Given the description of an element on the screen output the (x, y) to click on. 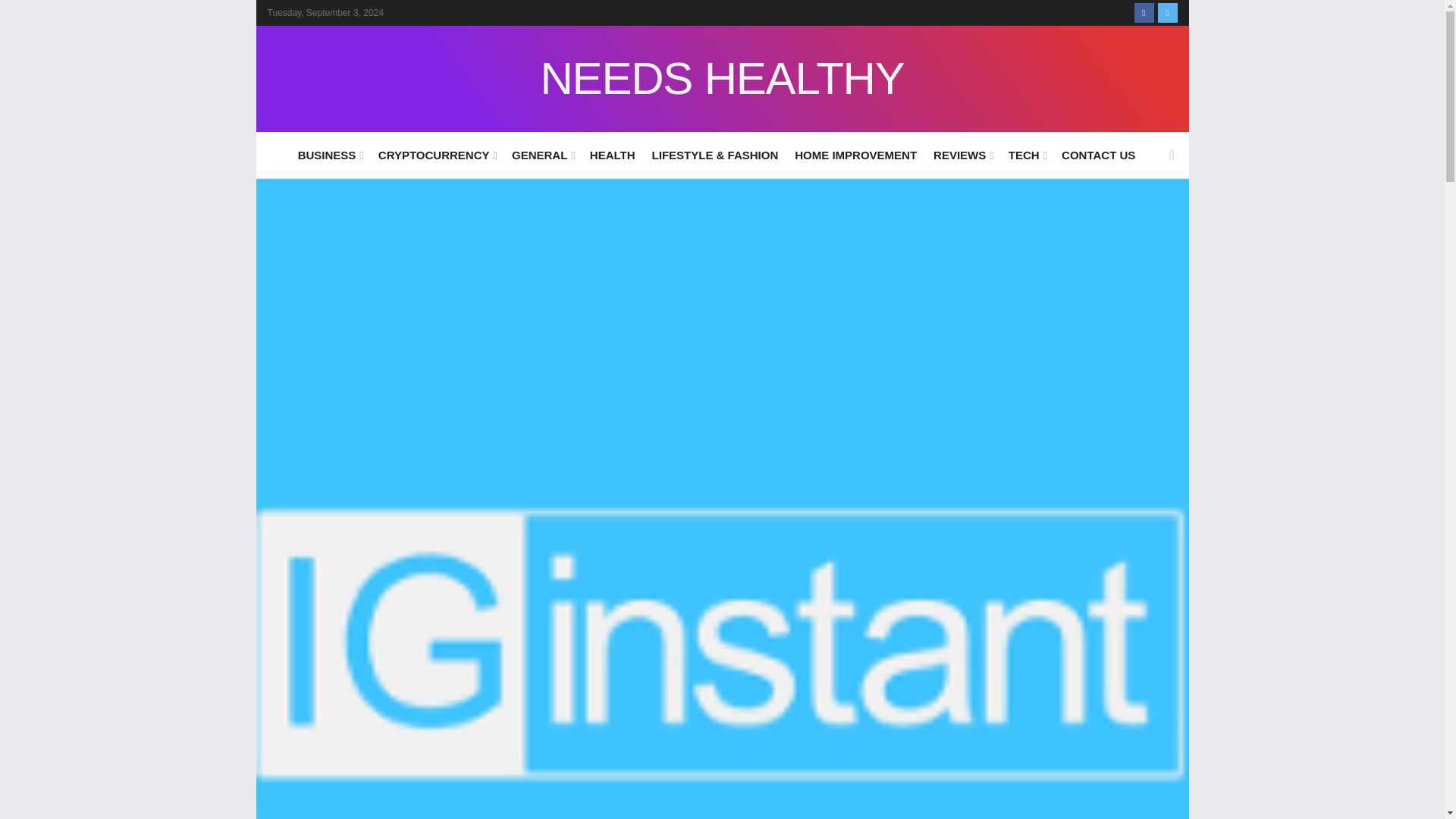
NEEDS HEALTHY (722, 78)
GENERAL (542, 155)
TECH (1027, 155)
HOME IMPROVEMENT (855, 155)
CRYPTOCURRENCY (436, 155)
BUSINESS (329, 155)
CONTACT US (1098, 155)
HEALTH (611, 155)
REVIEWS (962, 155)
